Given the description of an element on the screen output the (x, y) to click on. 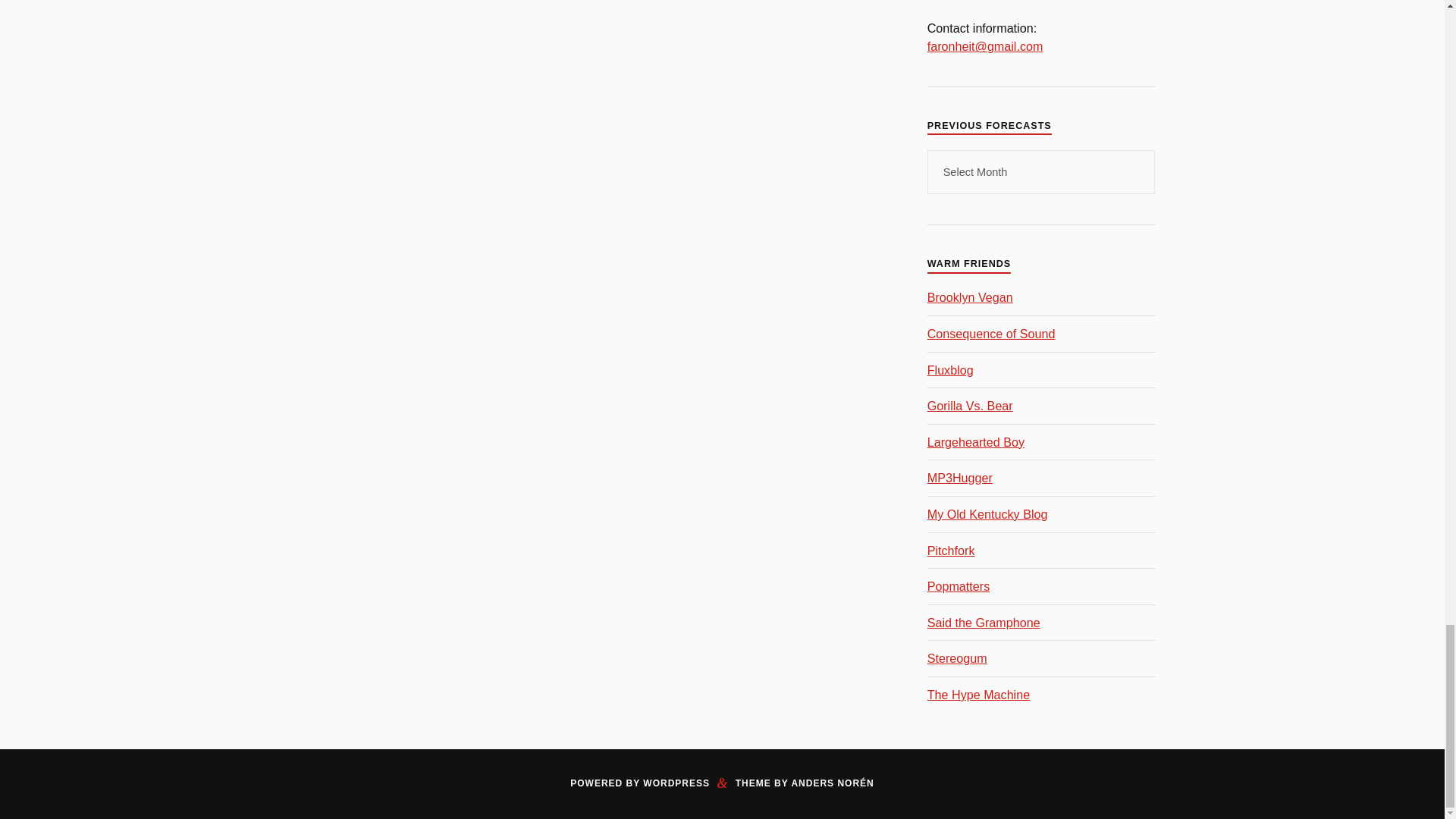
My goal is to turn him into Brooklyn Meateater (970, 296)
Music news and festival rumors (991, 333)
The first-ever music blog (950, 369)
Links and downloads galore (976, 441)
The bear would totally win (970, 405)
